Given the description of an element on the screen output the (x, y) to click on. 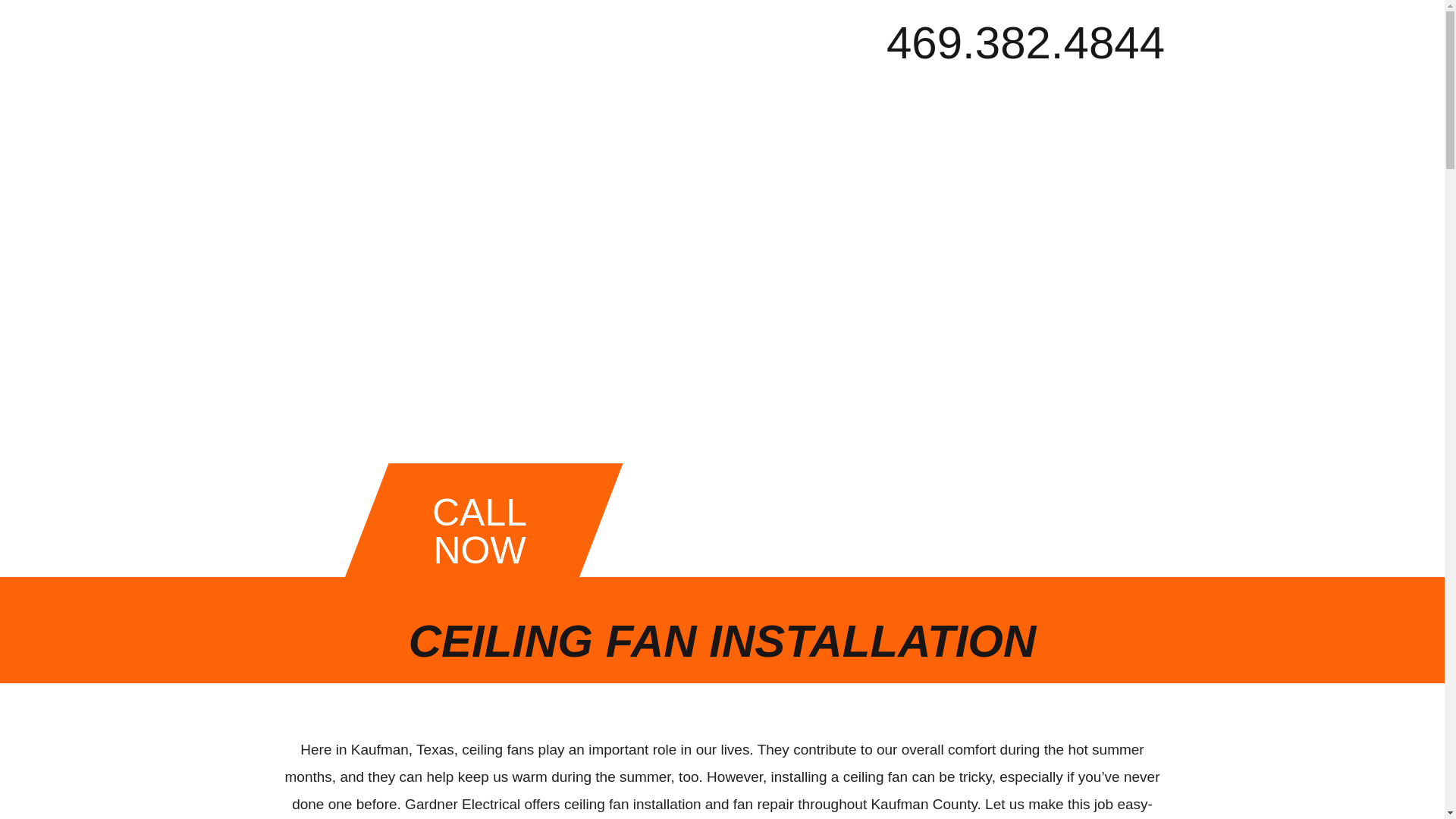
CALL NOW (453, 531)
